Given the description of an element on the screen output the (x, y) to click on. 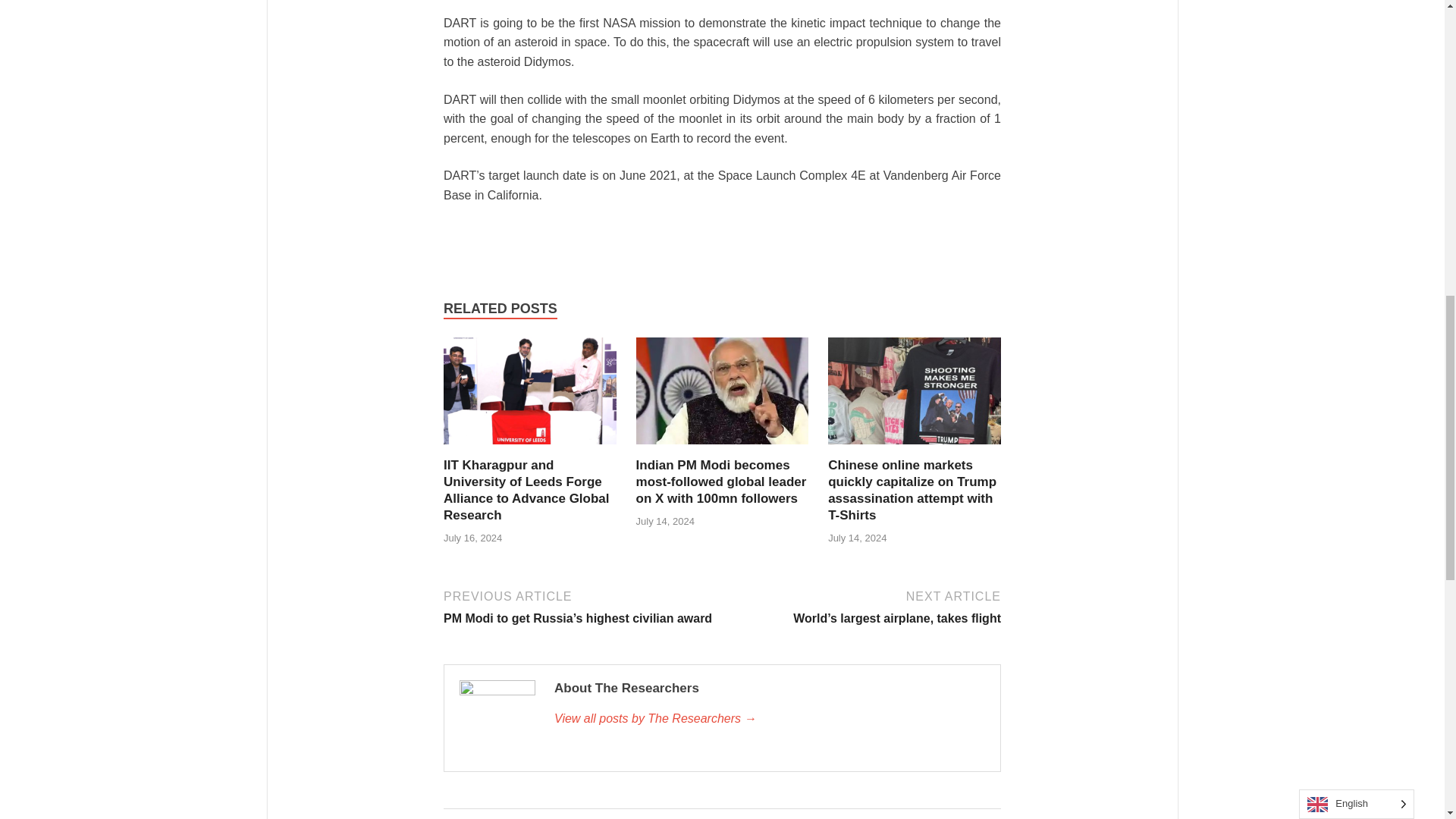
PrintFriendly (488, 237)
Facebook (518, 237)
LinkedIn (579, 237)
Twitter (549, 237)
Print (459, 237)
The Researchers (769, 719)
Email (610, 237)
WhatsApp (641, 237)
Telegram (738, 237)
